Given the description of an element on the screen output the (x, y) to click on. 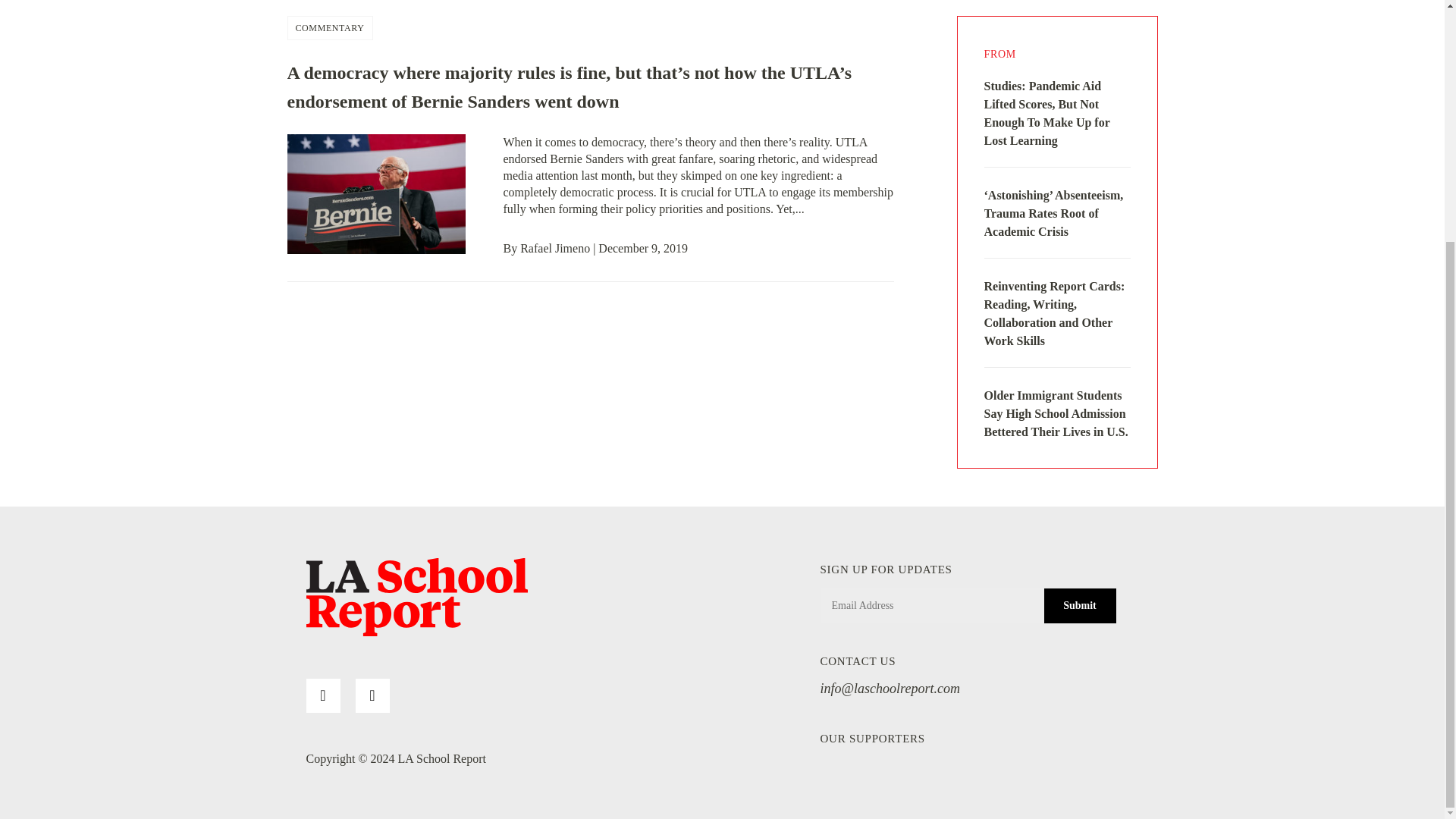
OUR SUPPORTERS (872, 738)
By (512, 247)
Submit (1079, 605)
Submit (1079, 605)
COMMENTARY (330, 27)
Rafael Jimeno (554, 247)
